Given the description of an element on the screen output the (x, y) to click on. 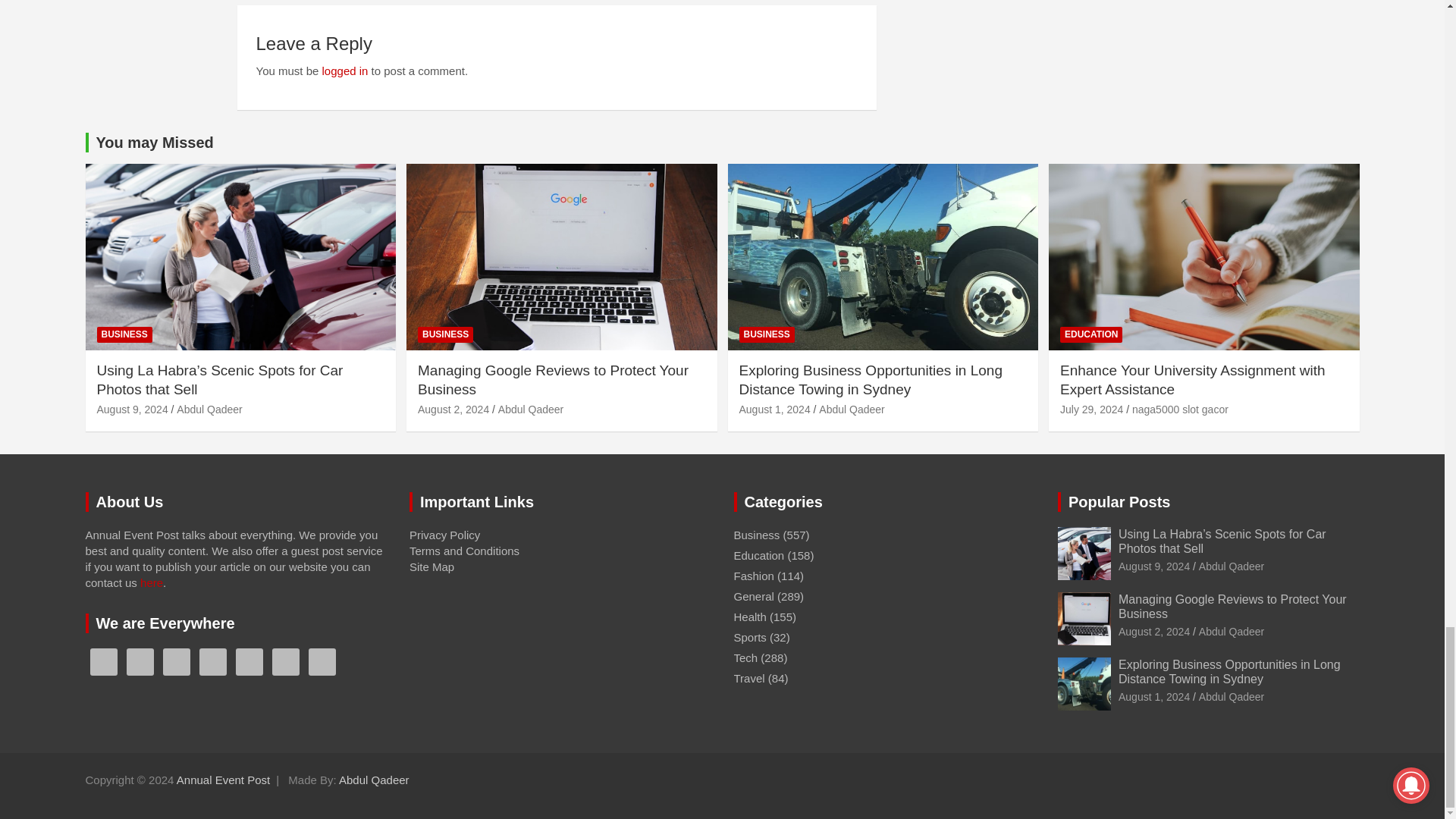
logged in (344, 70)
Managing Google Reviews to Protect Your Business (453, 409)
